Given the description of an element on the screen output the (x, y) to click on. 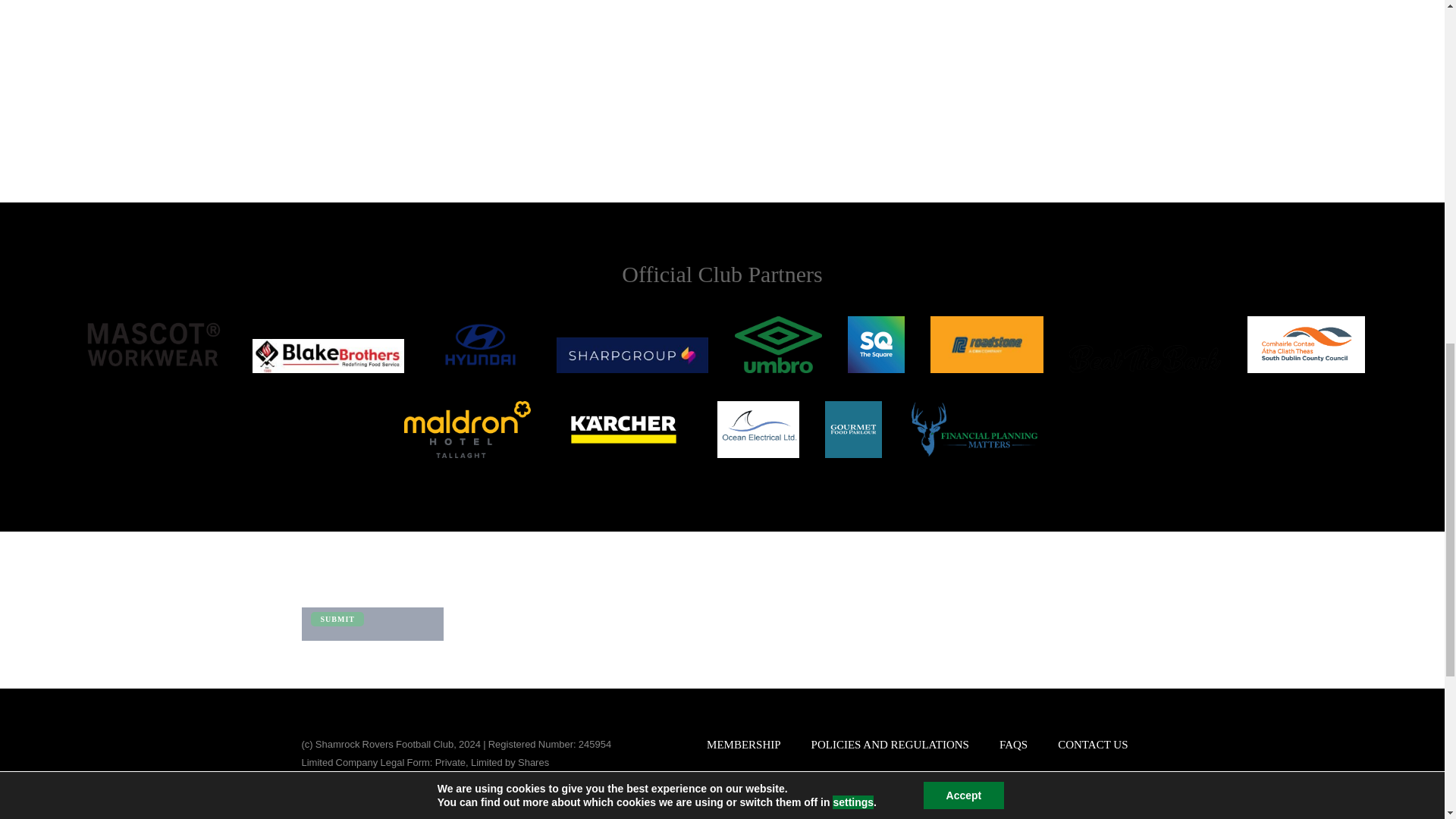
Hyundai (480, 344)
Roadstone (986, 344)
Umbro (778, 344)
The Square (875, 344)
Maldron (467, 429)
Beat the Bank (1144, 358)
South Dublin County Council (1306, 344)
Sharp Group (631, 355)
Ocean Electrical (758, 429)
Blake Brothers (327, 356)
